Given the description of an element on the screen output the (x, y) to click on. 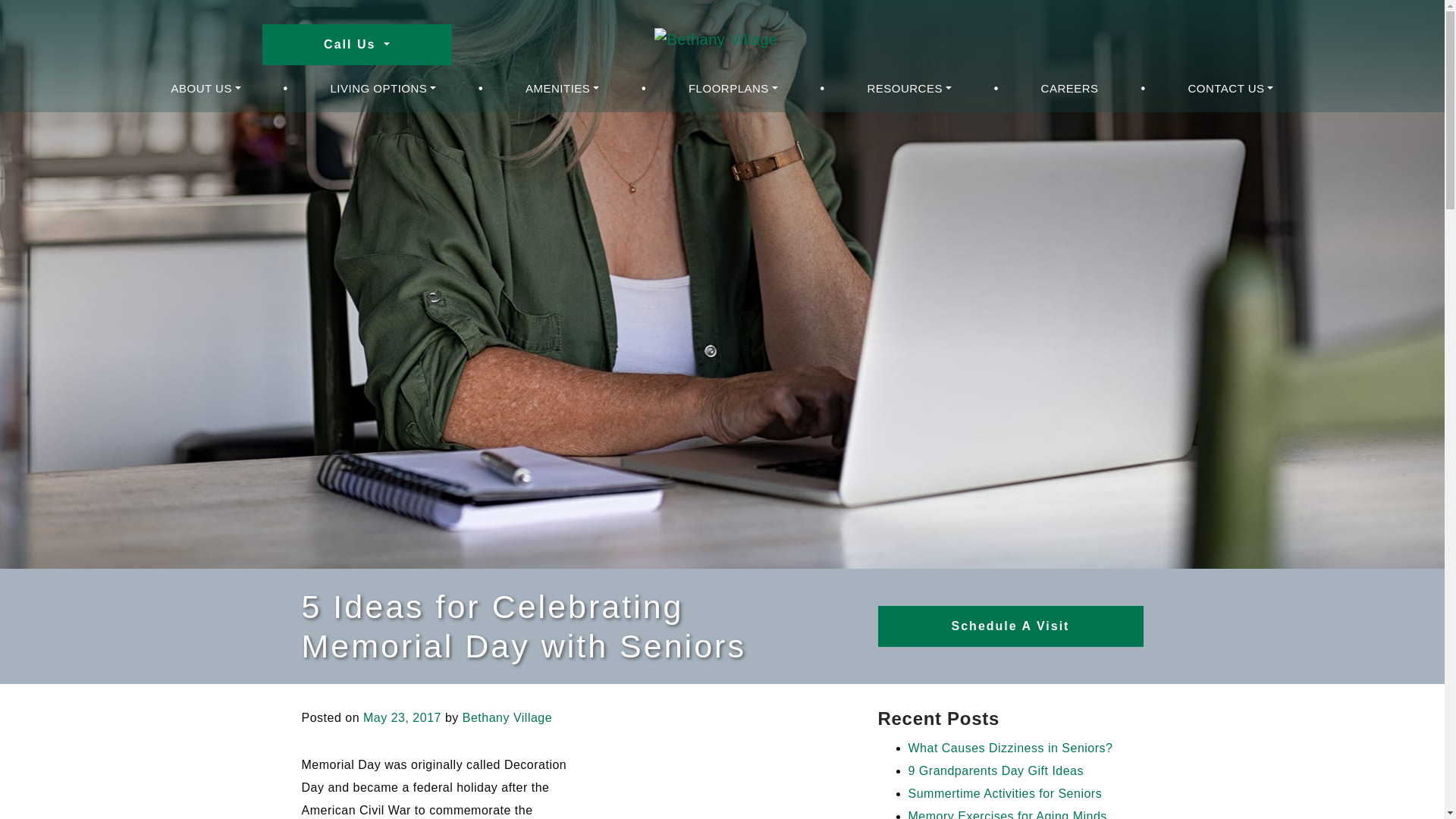
CAREERS (1070, 88)
Amenities (562, 88)
Call Us (356, 44)
FLOORPLANS (733, 88)
AMENITIES (562, 88)
RESOURCES (908, 88)
LIVING OPTIONS (383, 88)
CONTACT US (1229, 88)
Living Options (383, 88)
About Us (206, 88)
